Given the description of an element on the screen output the (x, y) to click on. 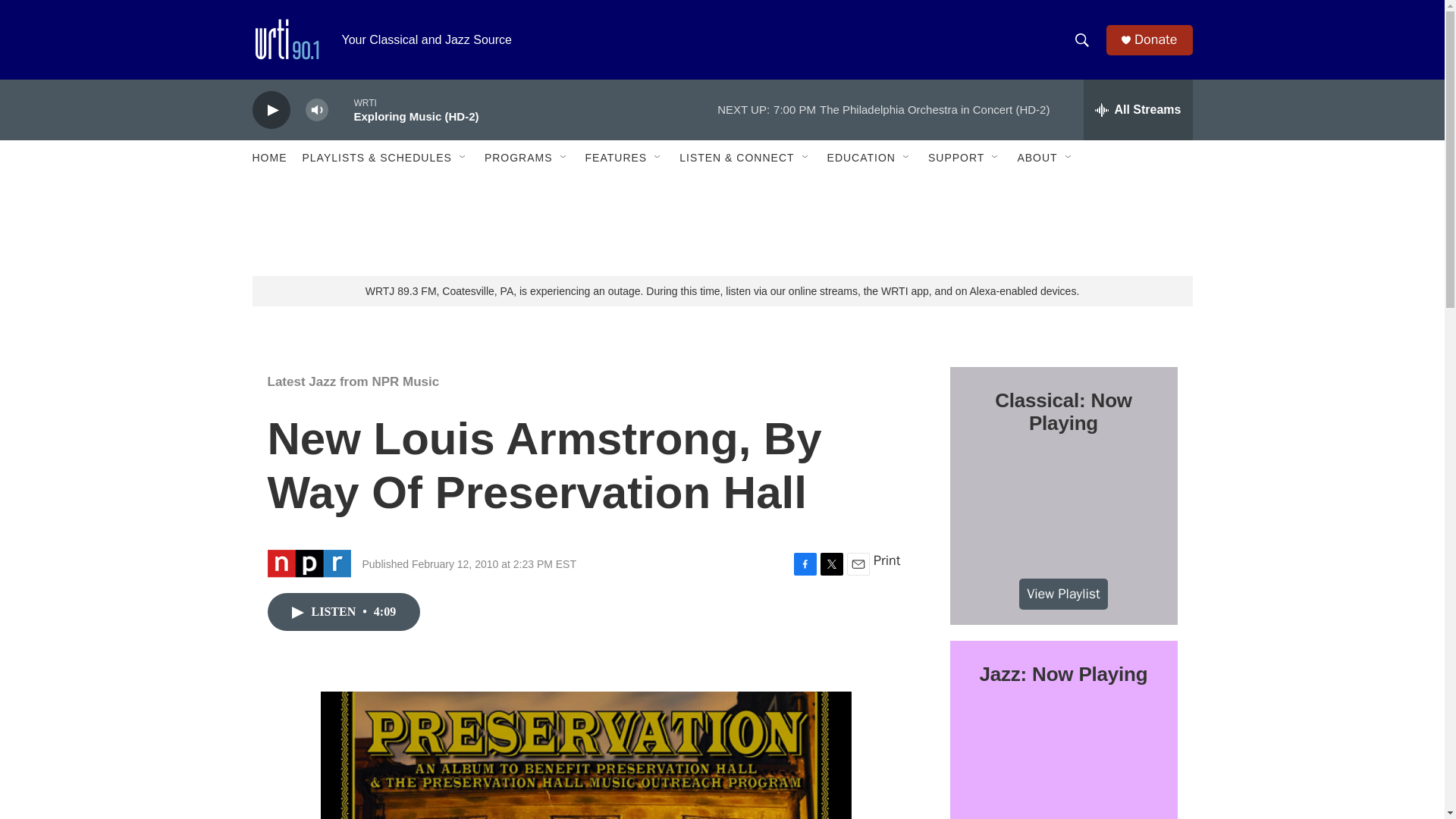
3rd party ad content (722, 225)
